Given the description of an element on the screen output the (x, y) to click on. 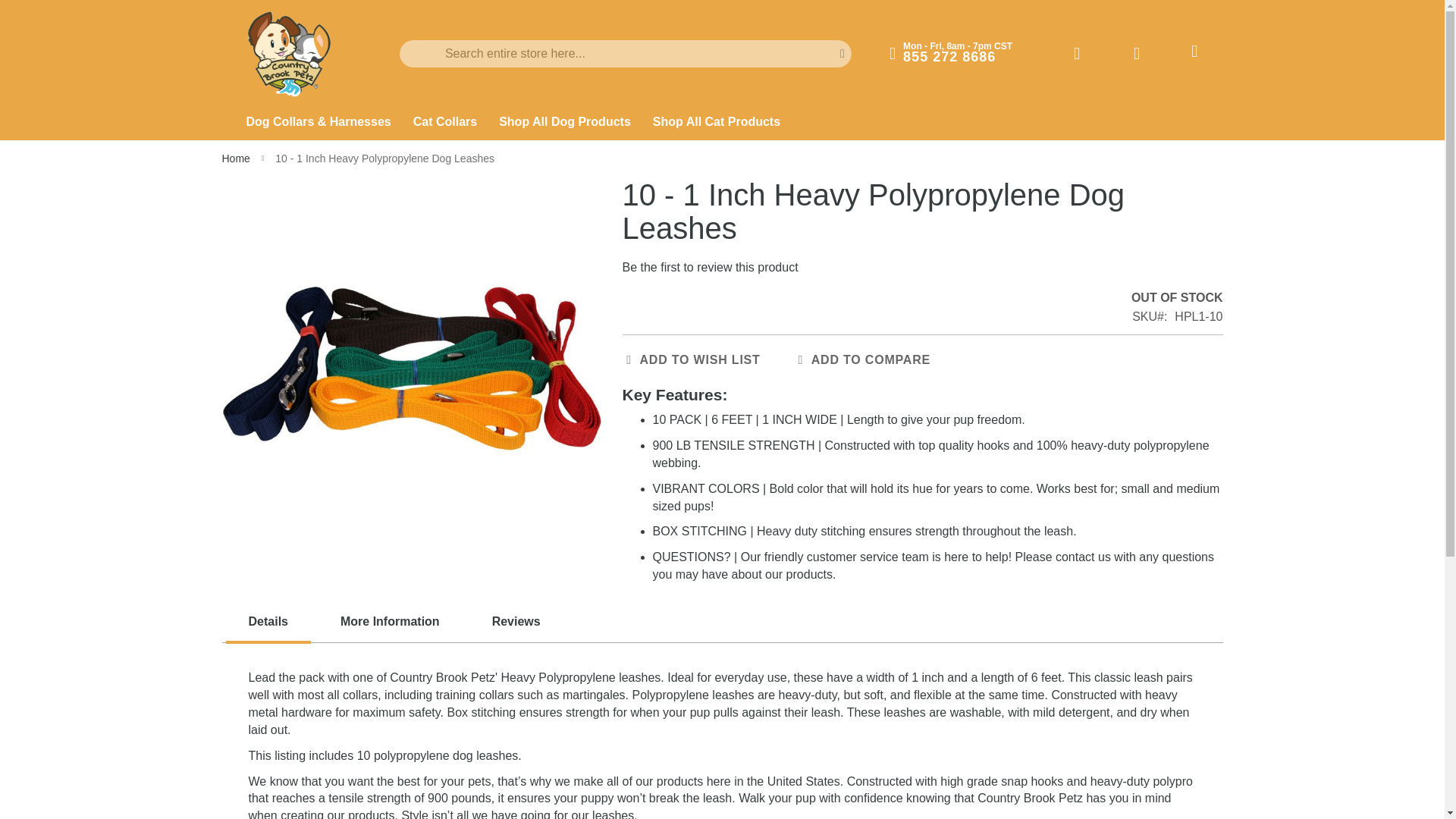
Availability (1177, 298)
855 272 8686 (948, 56)
Go to Home Page (236, 158)
Country Brook Petz Logo (289, 54)
